Given the description of an element on the screen output the (x, y) to click on. 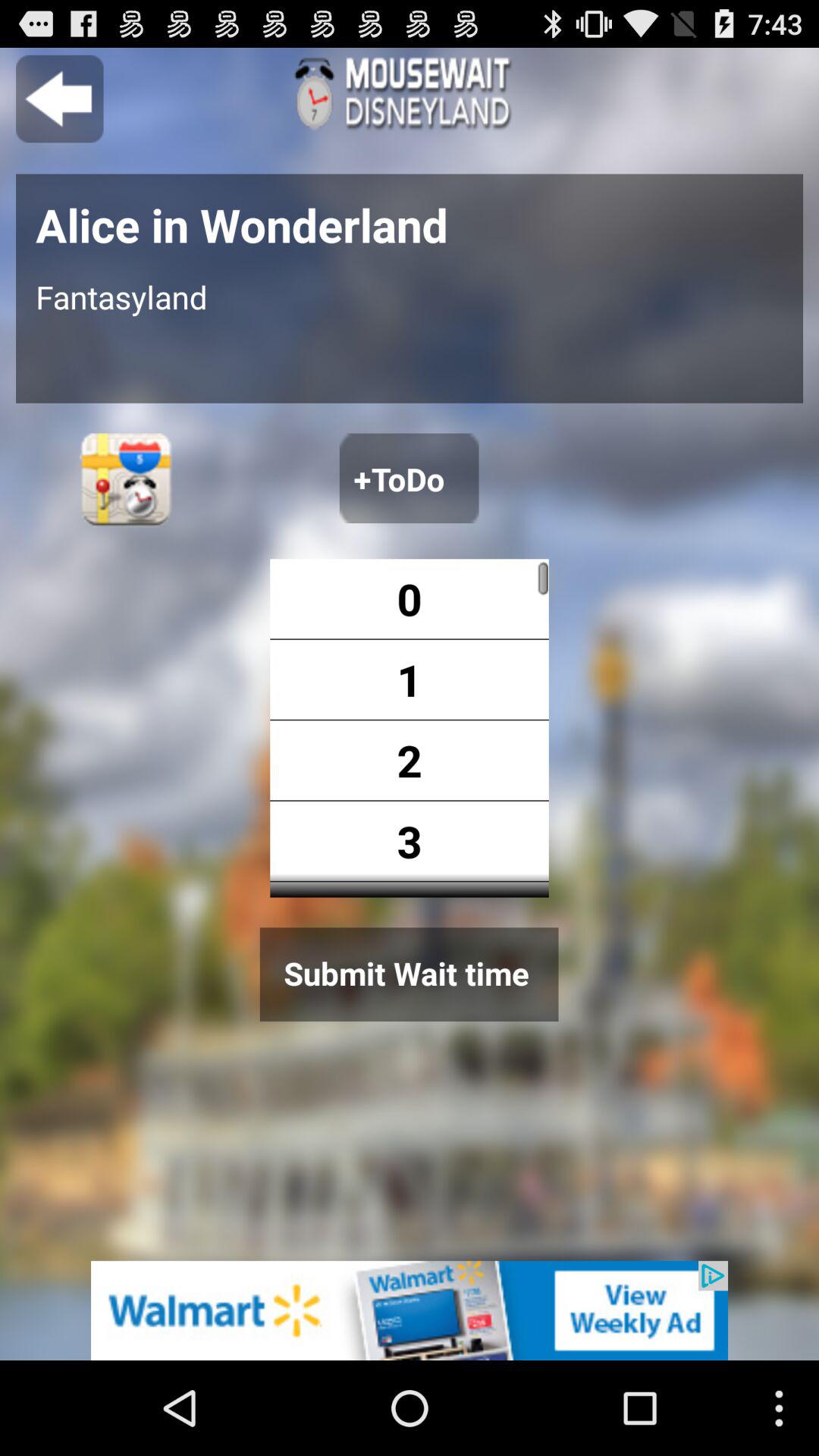
shows the number option (498, 728)
